Given the description of an element on the screen output the (x, y) to click on. 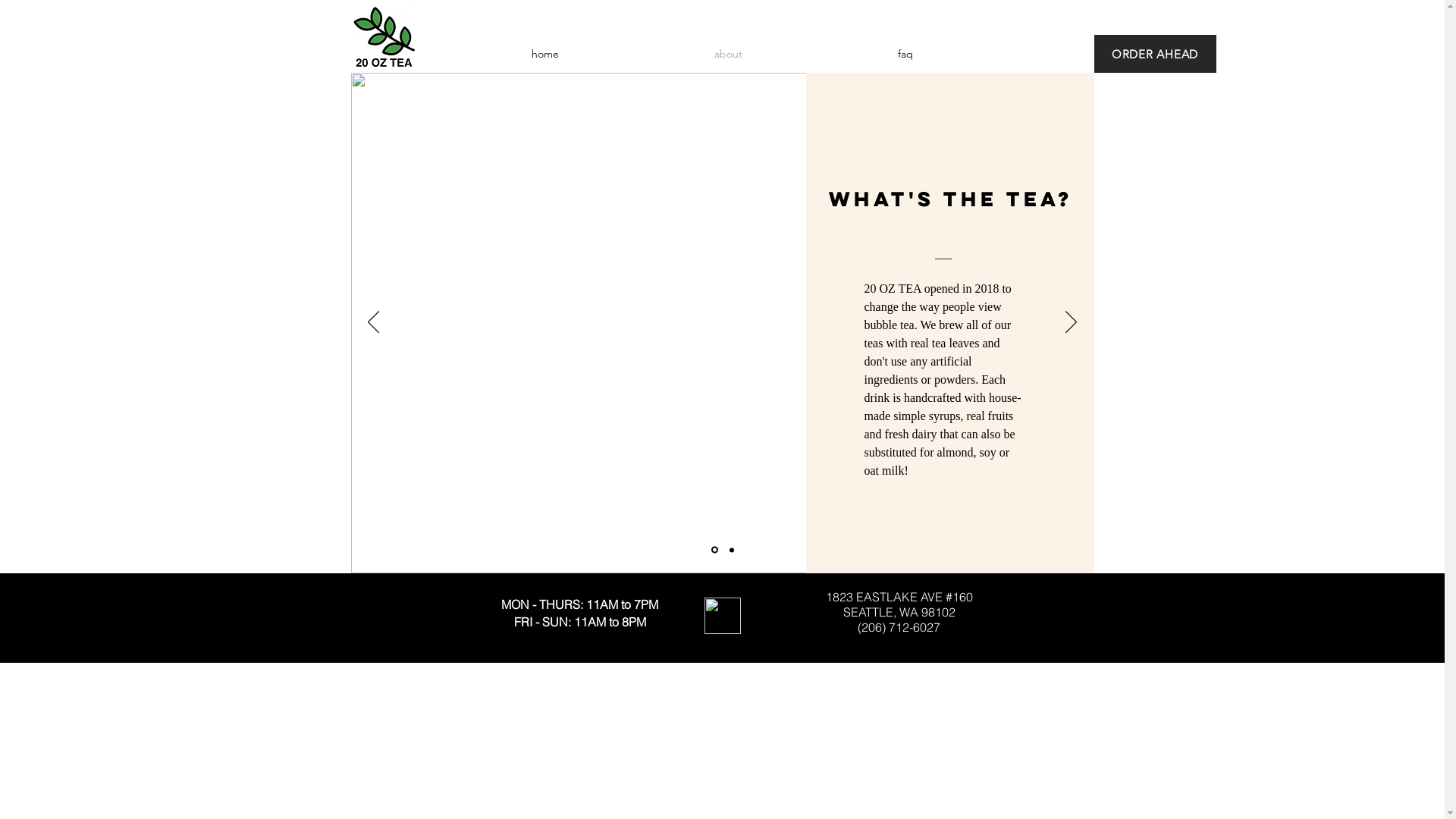
smalllogo.jpg Element type: hover (384, 37)
faq Element type: text (905, 53)
ORDER AHEAD Element type: text (1154, 53)
home Element type: text (544, 53)
about Element type: text (728, 53)
